Given the description of an element on the screen output the (x, y) to click on. 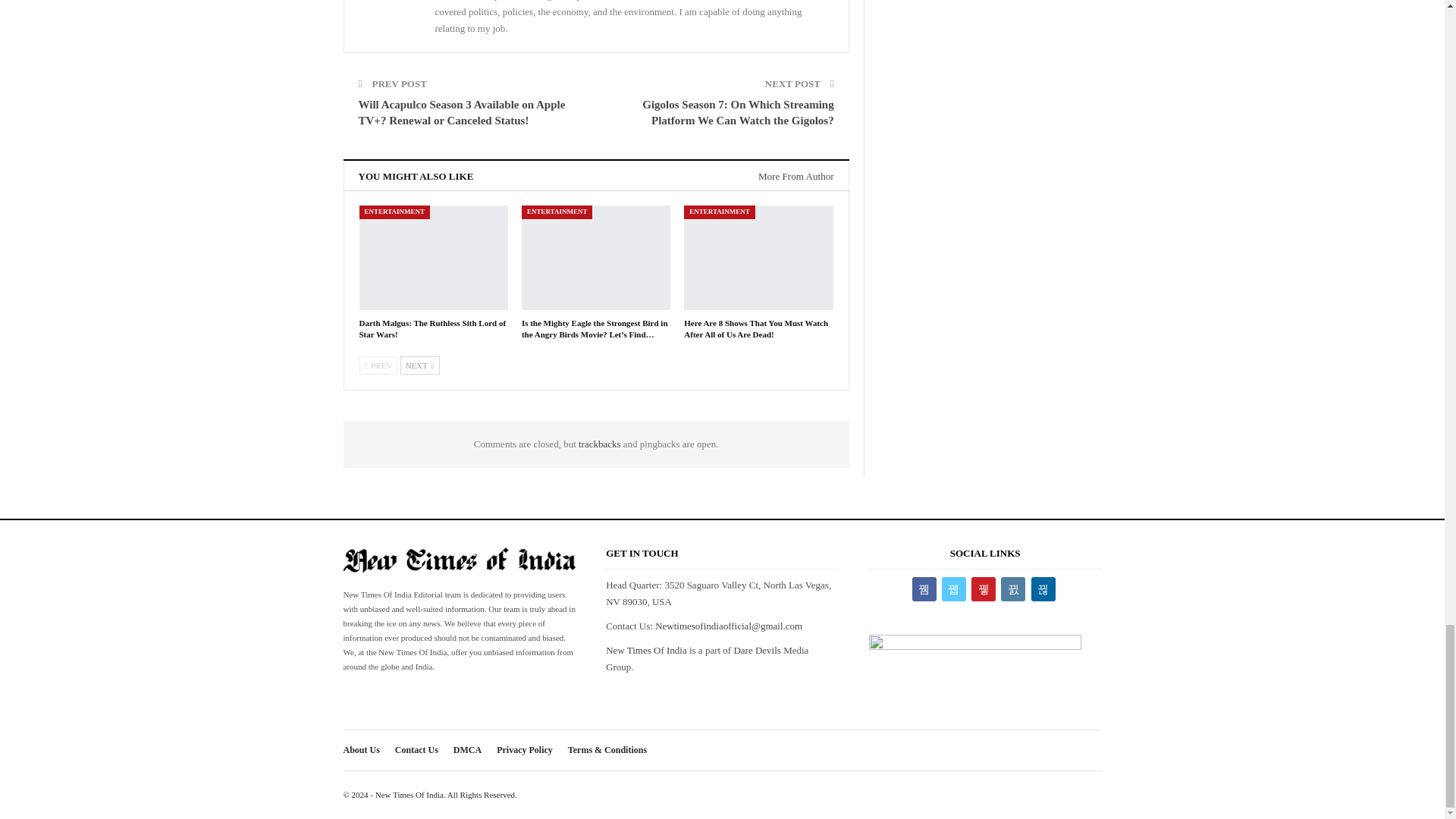
Darth Malgus: The Ruthless Sith Lord of Star Wars! (433, 257)
Previous (378, 365)
Darth Malgus: The Ruthless Sith Lord of Star Wars! (432, 328)
